Given the description of an element on the screen output the (x, y) to click on. 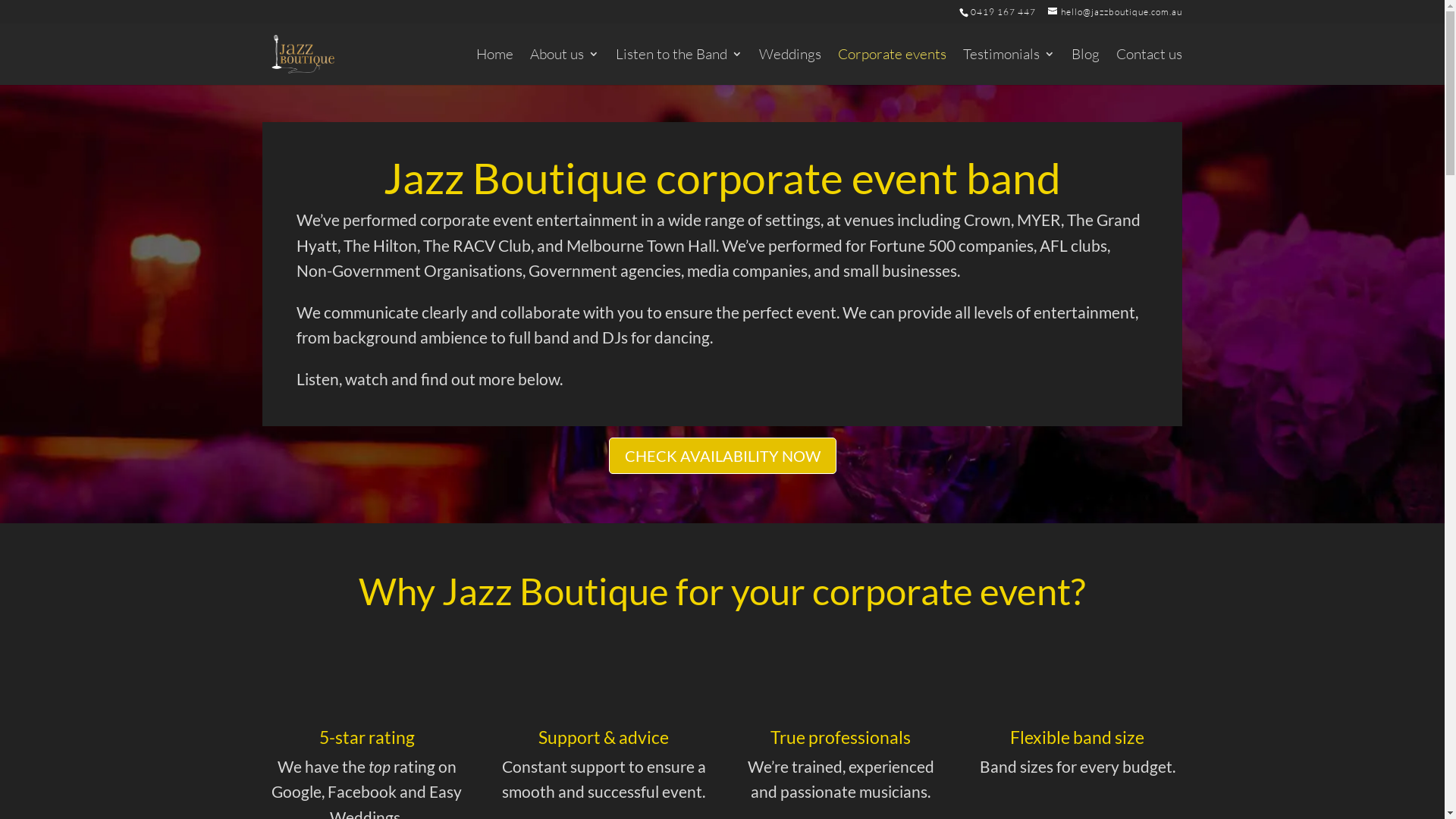
Testimonials Element type: text (1008, 66)
hello@jazzboutique.com.au Element type: text (1115, 11)
CHECK AVAILABILITY NOW Element type: text (721, 455)
Contact us Element type: text (1149, 66)
Listen to the Band Element type: text (678, 66)
Blog Element type: text (1085, 66)
Weddings Element type: text (790, 66)
0419 167 447 Element type: text (1002, 11)
About us Element type: text (564, 66)
Corporate events Element type: text (891, 66)
Home Element type: text (494, 66)
